Given the description of an element on the screen output the (x, y) to click on. 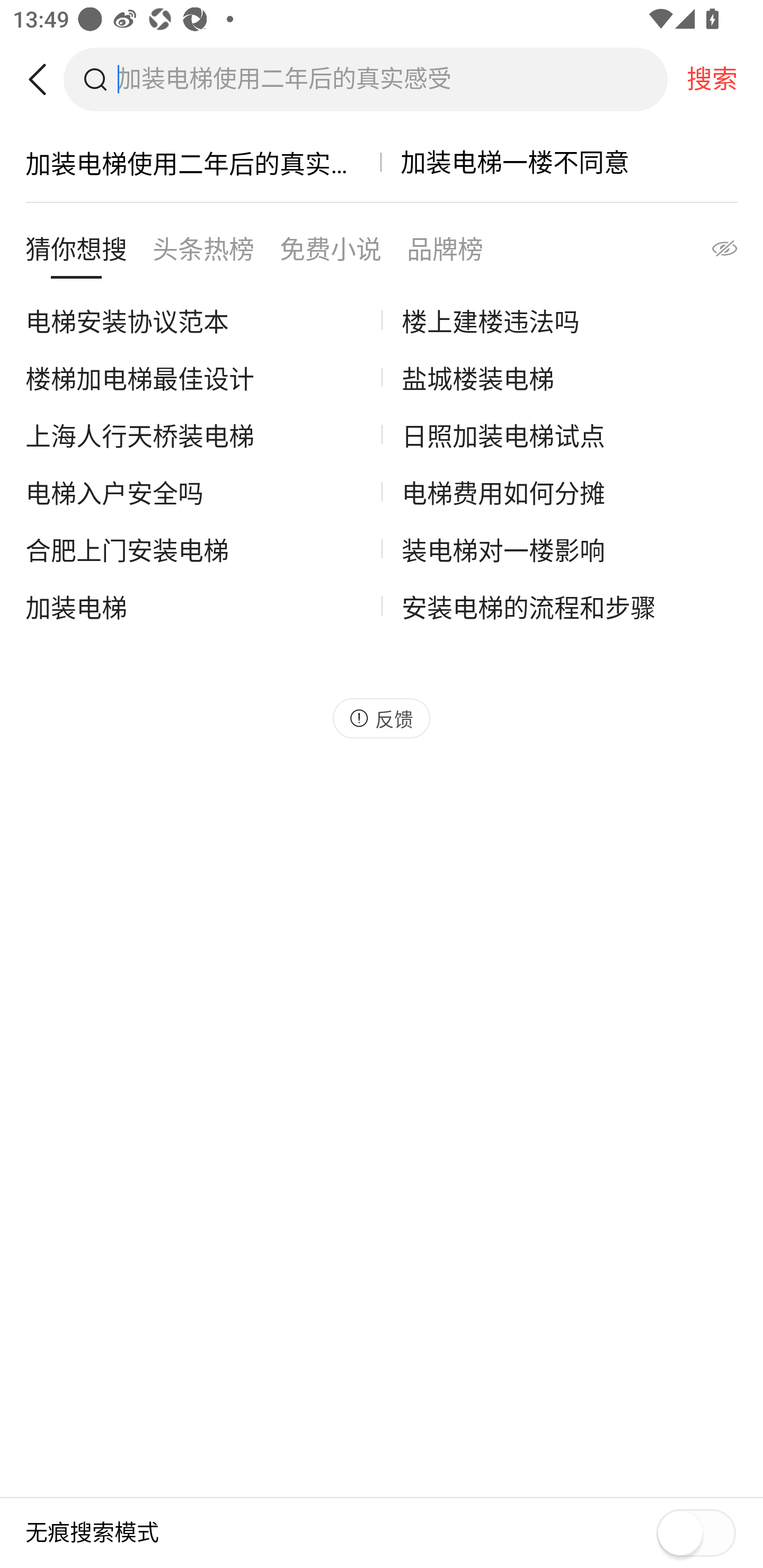
搜索框，加装电梯使用二年后的真实感受 (392, 79)
搜索 (711, 79)
返回 (44, 79)
加装电梯使用二年后的真实感受，链接, 加装电梯使用二年后的真实感受 (203, 162)
加装电梯一楼不同意，链接, 加装电梯一楼不同意 (559, 162)
猜你想搜 按钮 已选中 (76, 253)
头条热榜 按钮 (203, 253)
免费小说 按钮 (330, 253)
品牌榜 按钮 (444, 253)
隐藏全部推荐词内容 按钮 (706, 253)
反馈, 按钮 (381, 717)
